Given the description of an element on the screen output the (x, y) to click on. 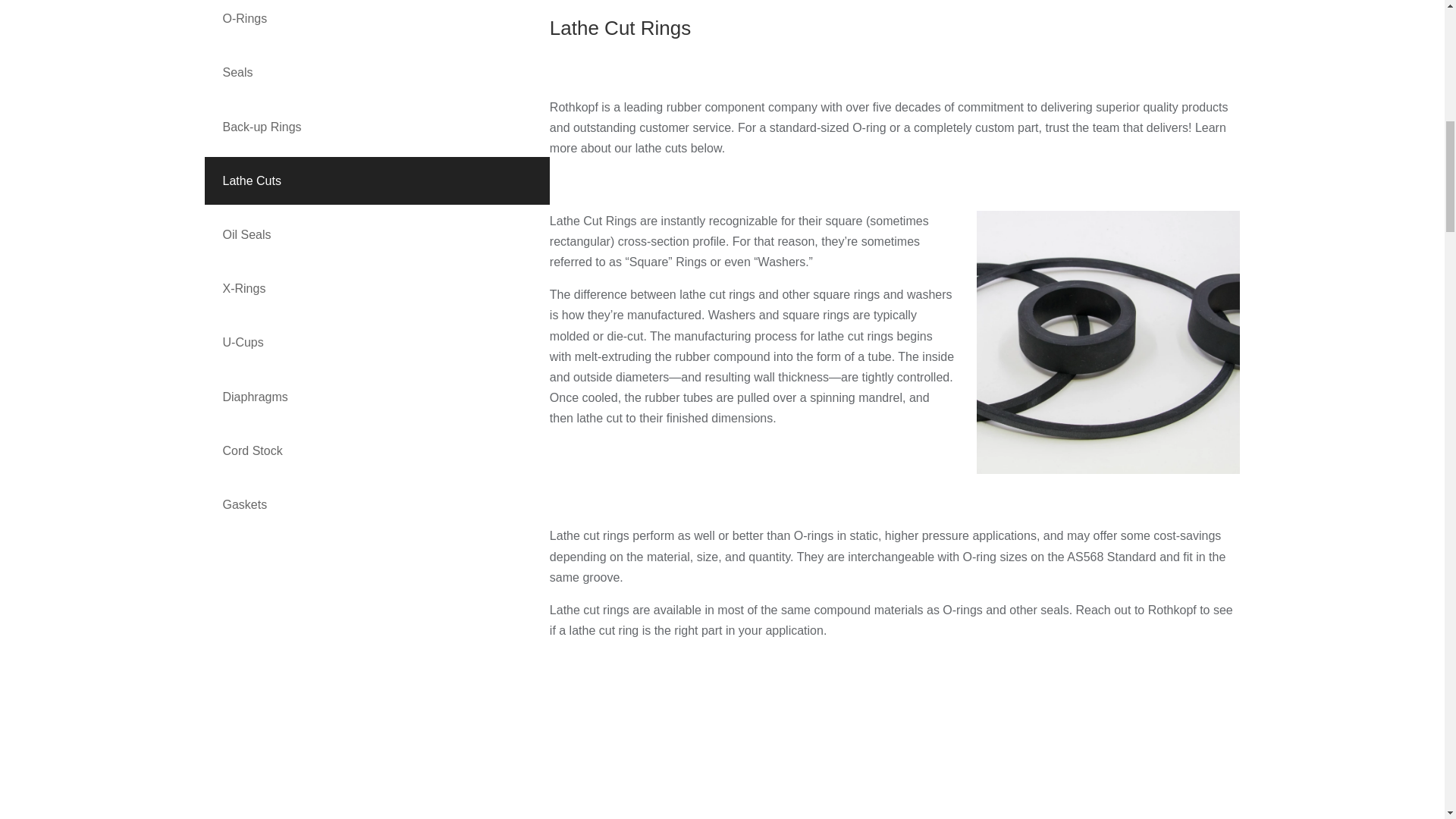
Cord Stock (377, 450)
Diaphragms (377, 396)
U-Cups (377, 342)
Seals (377, 72)
Gaskets (377, 504)
Lathe Cuts (377, 180)
X-Rings (377, 288)
Tell Me More (484, 674)
Rothkopf Products-lathe cuts square (1108, 342)
Oil Seals (377, 234)
